Given the description of an element on the screen output the (x, y) to click on. 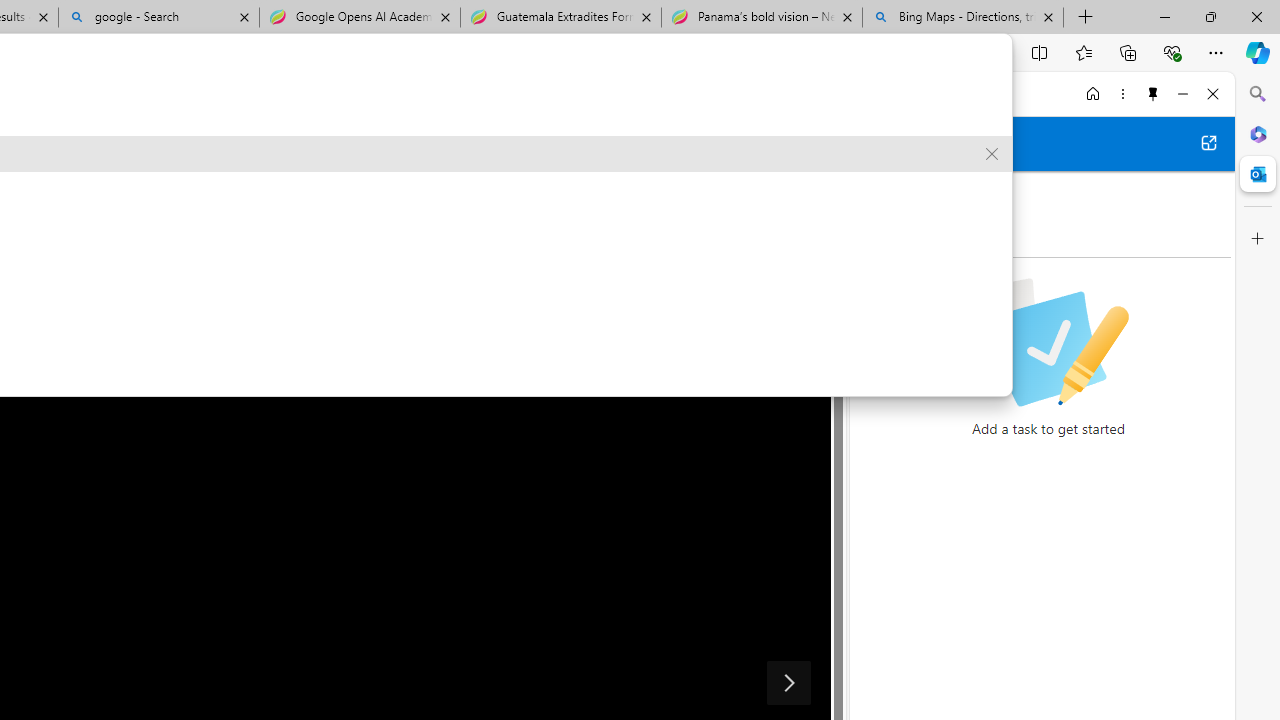
Google Opens AI Academy for Startups - Nearshore Americas (359, 17)
Checkbox with a pencil (1047, 342)
Show next image (788, 682)
Show in full screen (800, 143)
Add a task (881, 235)
Open in new tab (1208, 142)
